Given the description of an element on the screen output the (x, y) to click on. 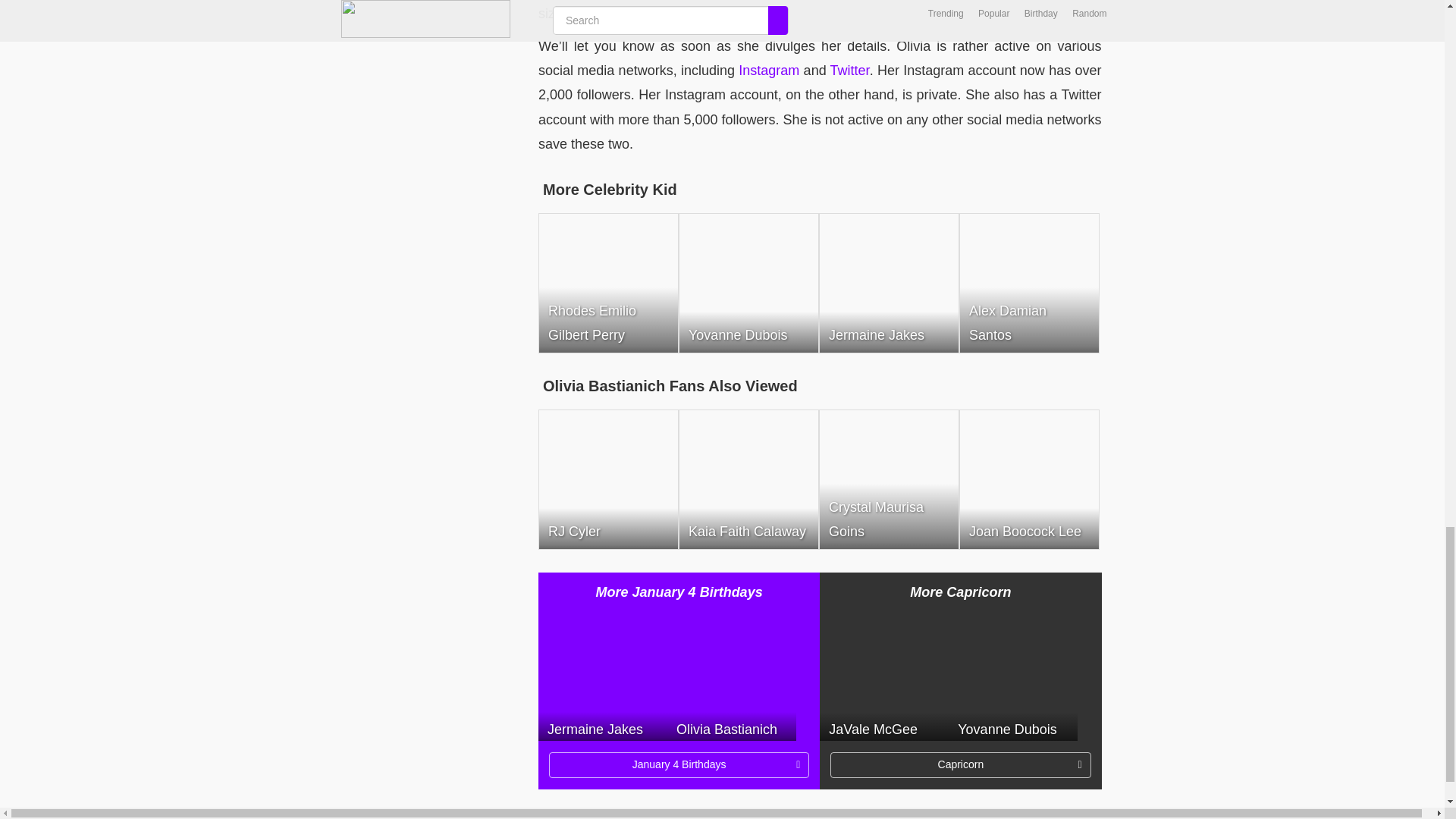
Jermaine Jakes (602, 676)
Olivia Bastianich (731, 676)
Twitter (849, 70)
Instagram (768, 70)
